Given the description of an element on the screen output the (x, y) to click on. 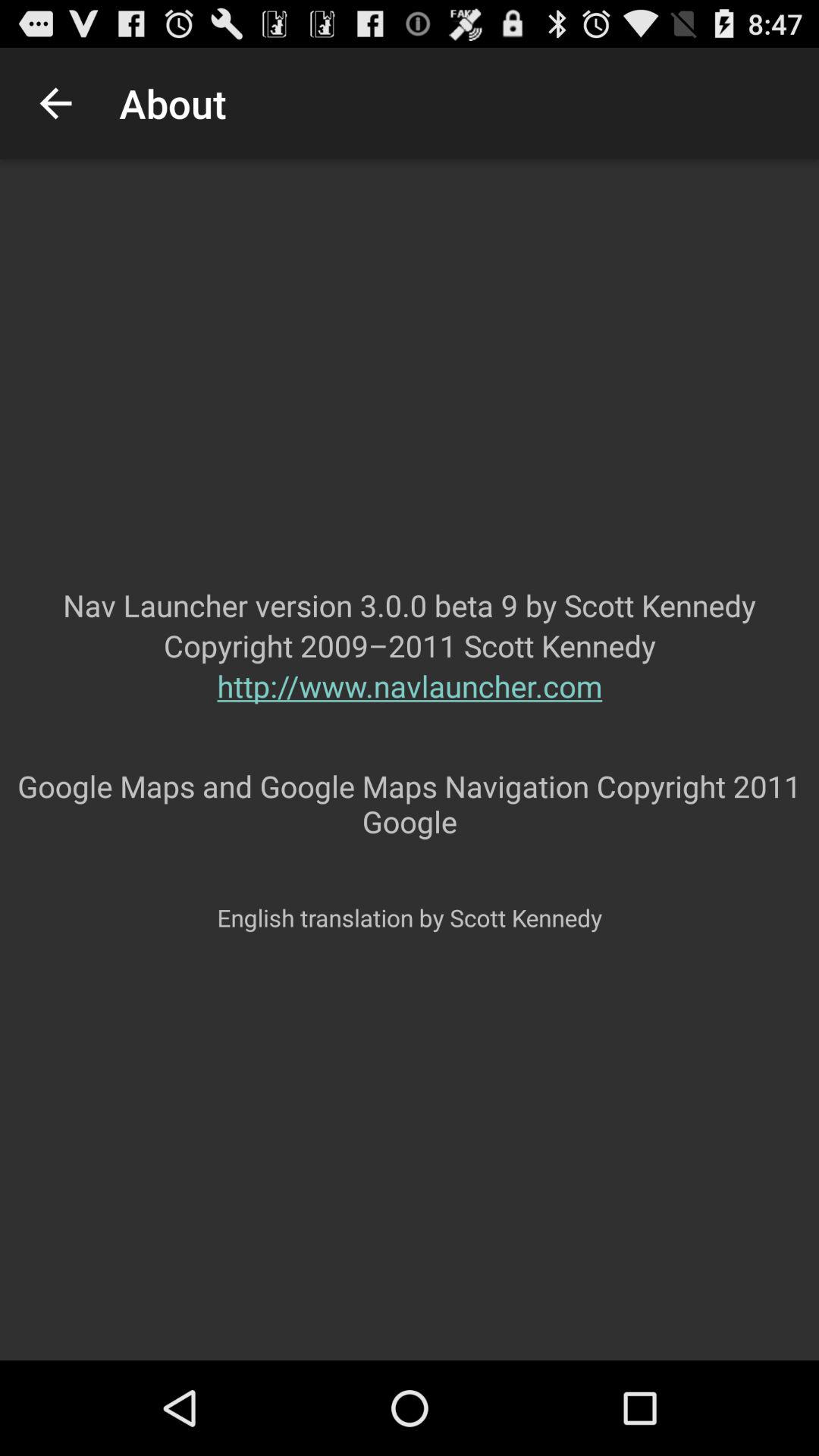
turn on the app above google maps and item (409, 716)
